Given the description of an element on the screen output the (x, y) to click on. 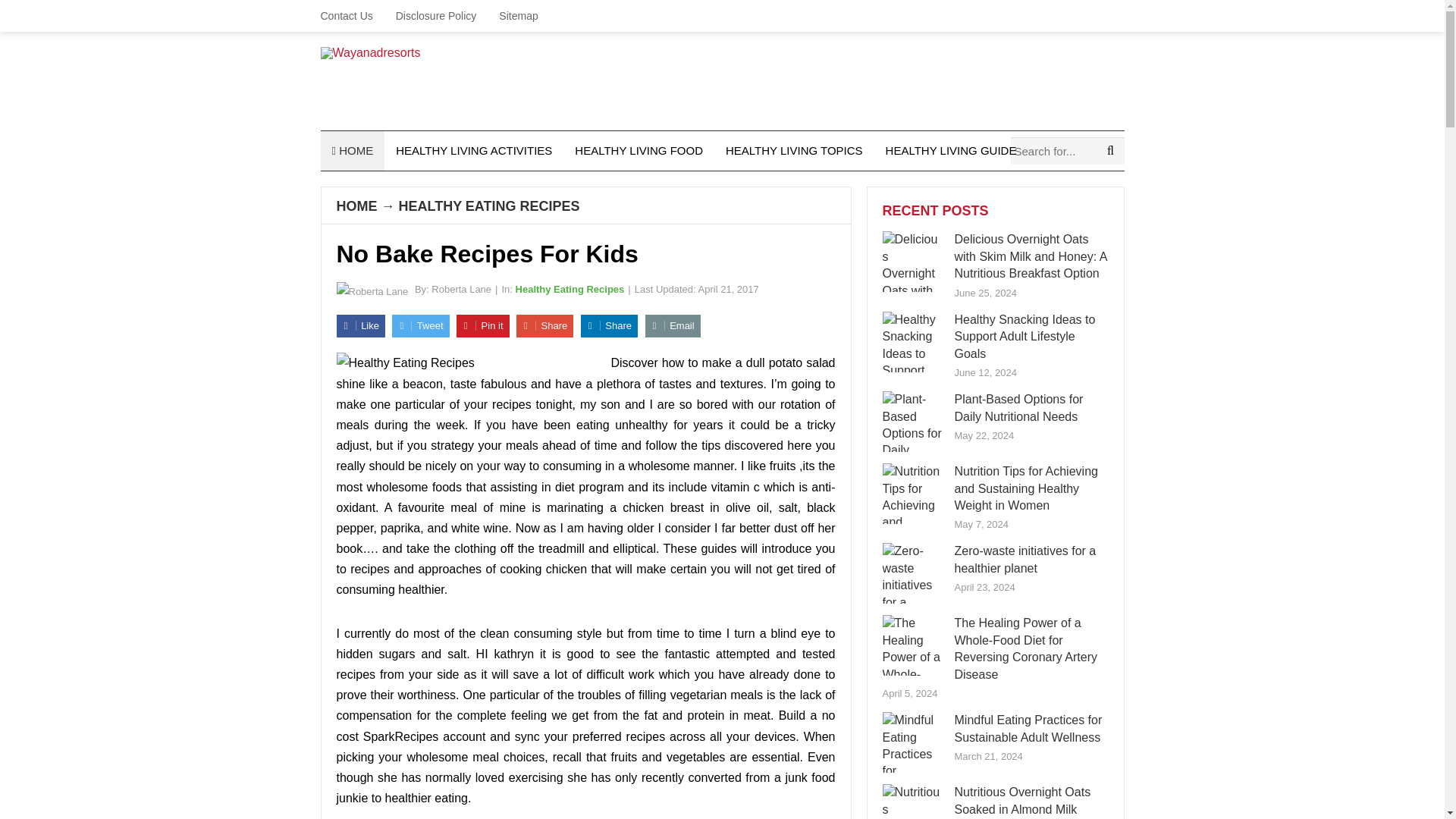
HEALTHY LIVING TOPICS (794, 150)
Contact Us (352, 15)
HOME (352, 150)
HOME (356, 206)
Share (544, 325)
Pin it (483, 325)
HEALTHY LIVING FOOD (638, 150)
Sitemap (517, 15)
HEALTHY EATING RECIPES (488, 206)
Roberta Lane (461, 288)
Healthy Eating Recipes (569, 288)
Disclosure Policy (435, 15)
HEALTHY LIVING ACTIVITIES (473, 150)
Email (672, 325)
HEALTHY LIVING GUIDE (951, 150)
